Given the description of an element on the screen output the (x, y) to click on. 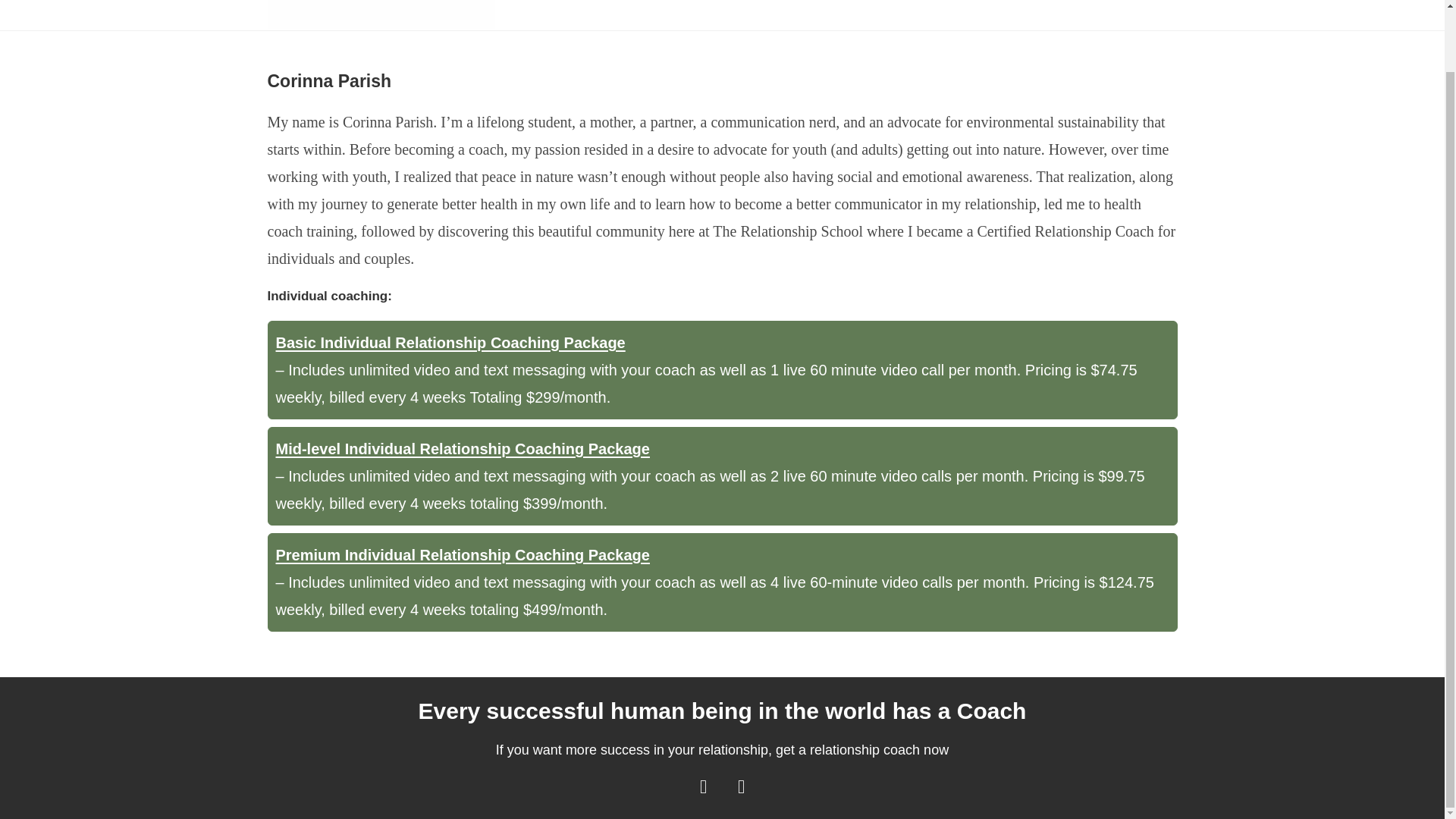
Hire a relationship coach (1047, 4)
Meet our coaches (855, 4)
